Given the description of an element on the screen output the (x, y) to click on. 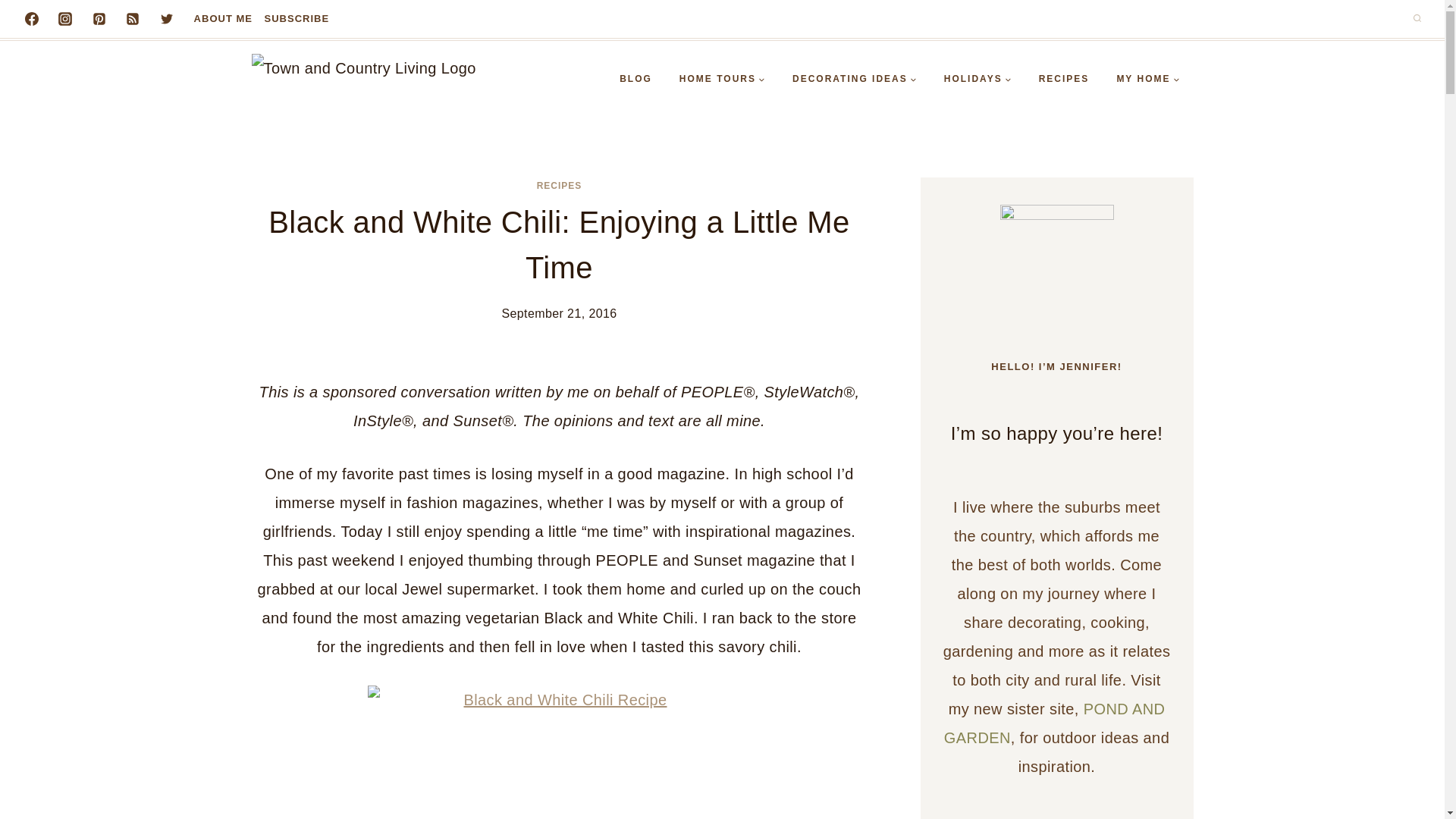
SUBSCRIBE (296, 19)
BLOG (635, 79)
HOME TOURS (721, 79)
HOLIDAYS (977, 79)
MY HOME (1147, 79)
ABOUT ME (223, 19)
RECIPES (1064, 79)
DECORATING IDEAS (854, 79)
